Given the description of an element on the screen output the (x, y) to click on. 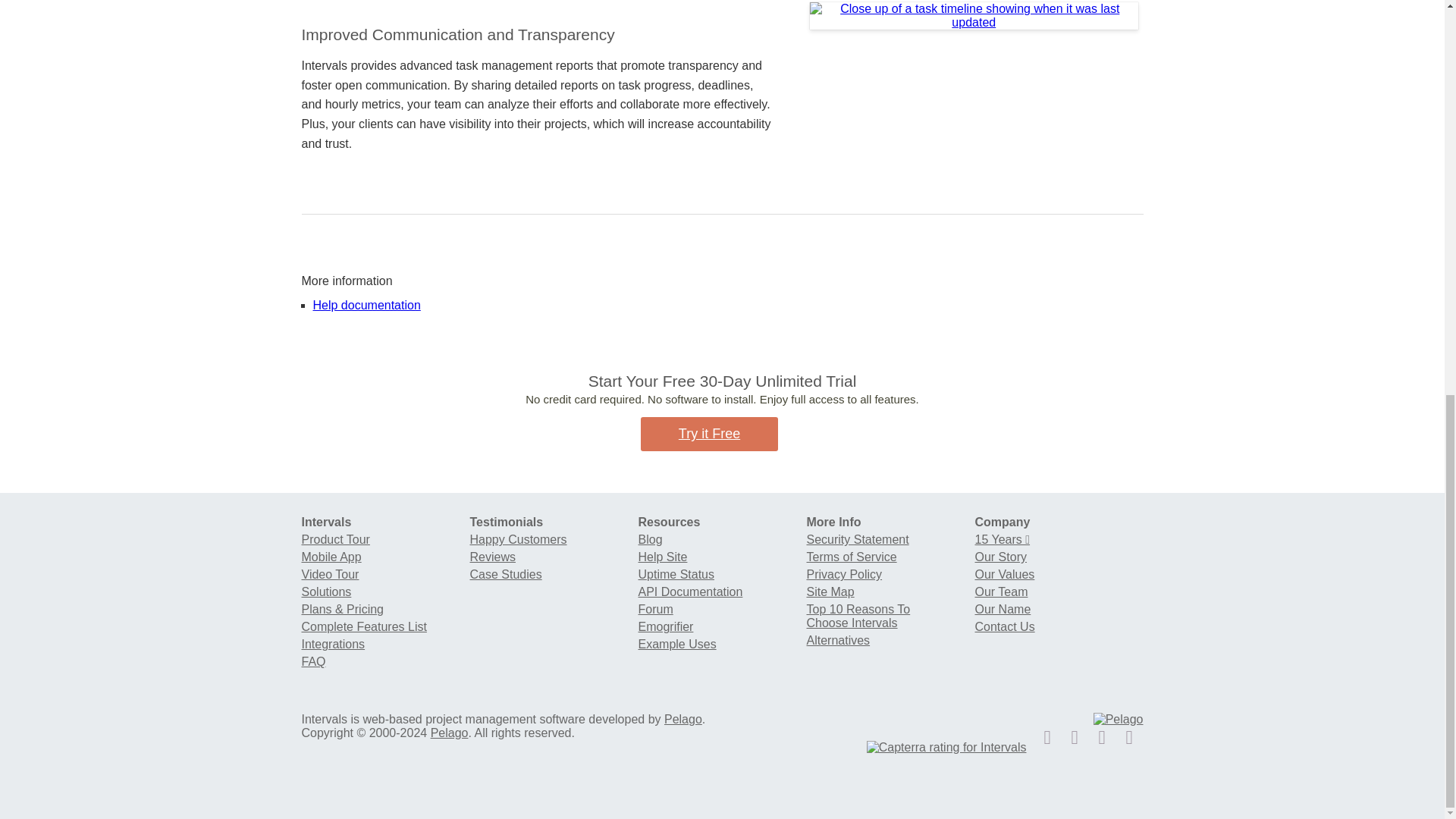
Product Tour (335, 539)
Mobile App (331, 556)
Help documentation (366, 305)
Try it Free (708, 433)
Solutions (326, 591)
Video Tour (330, 574)
